Given the description of an element on the screen output the (x, y) to click on. 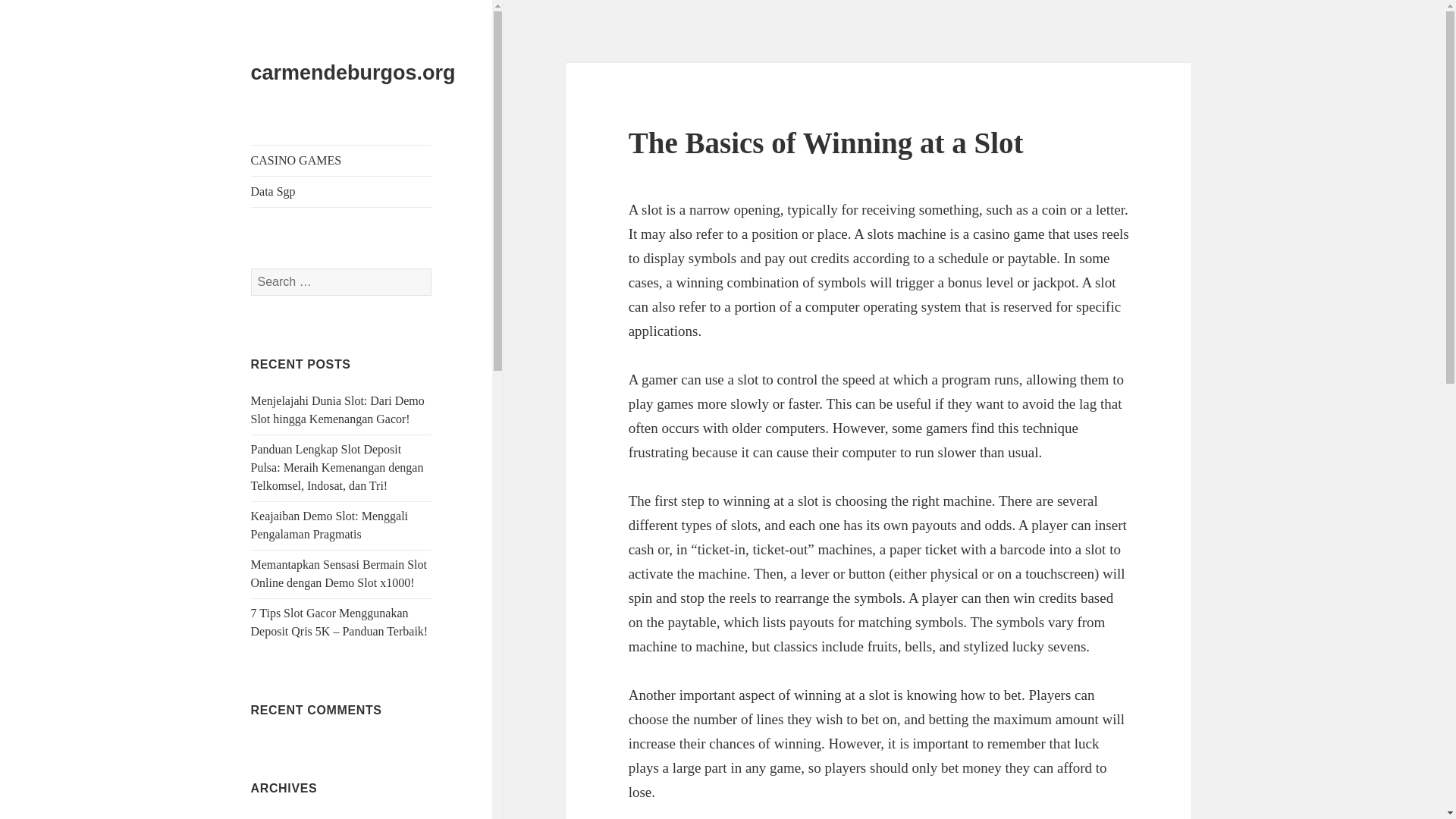
carmendeburgos.org (352, 72)
July 2024 (274, 818)
Keajaiban Demo Slot: Menggali Pengalaman Pragmatis (329, 524)
Data Sgp (341, 191)
CASINO GAMES (341, 160)
